Given the description of an element on the screen output the (x, y) to click on. 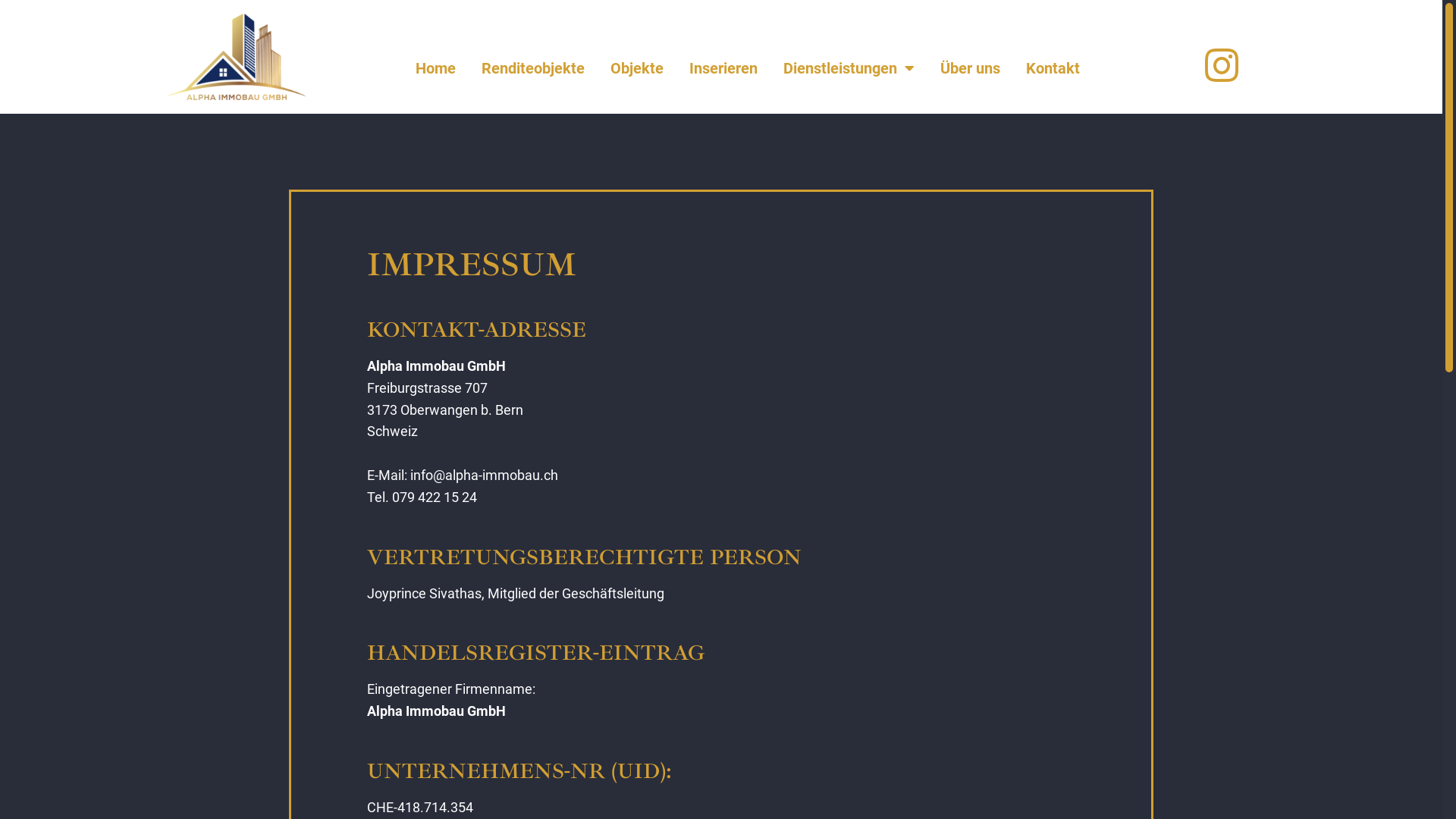
Inserieren Element type: text (723, 67)
Objekte Element type: text (636, 67)
Renditeobjekte Element type: text (532, 67)
Kontakt Element type: text (1052, 67)
Home Element type: text (435, 67)
Dienstleistungen Element type: text (848, 67)
